Given the description of an element on the screen output the (x, y) to click on. 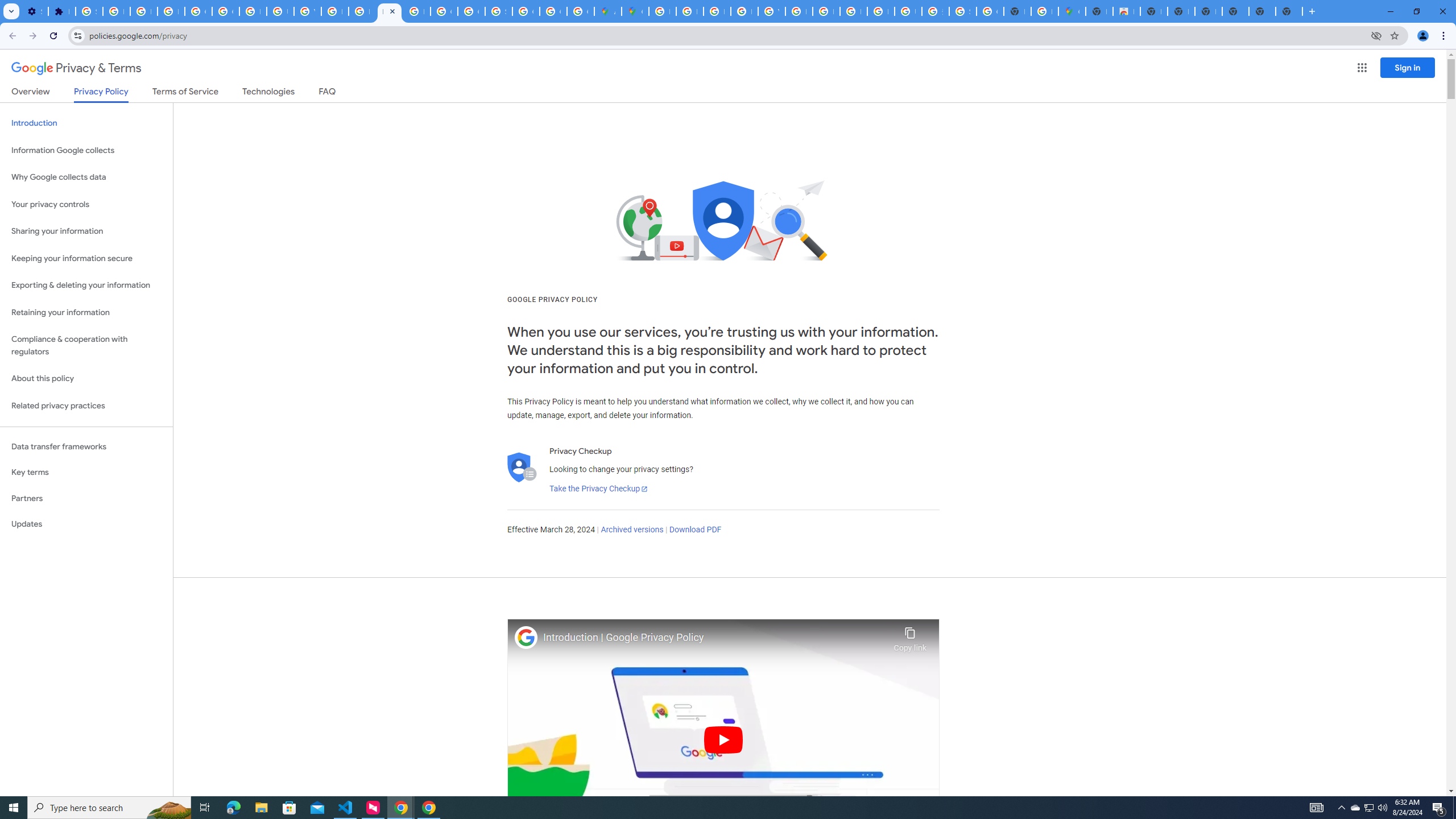
YouTube (307, 11)
Copy link (909, 636)
Delete photos & videos - Computer - Google Photos Help (116, 11)
Sign in - Google Accounts (498, 11)
